Given the description of an element on the screen output the (x, y) to click on. 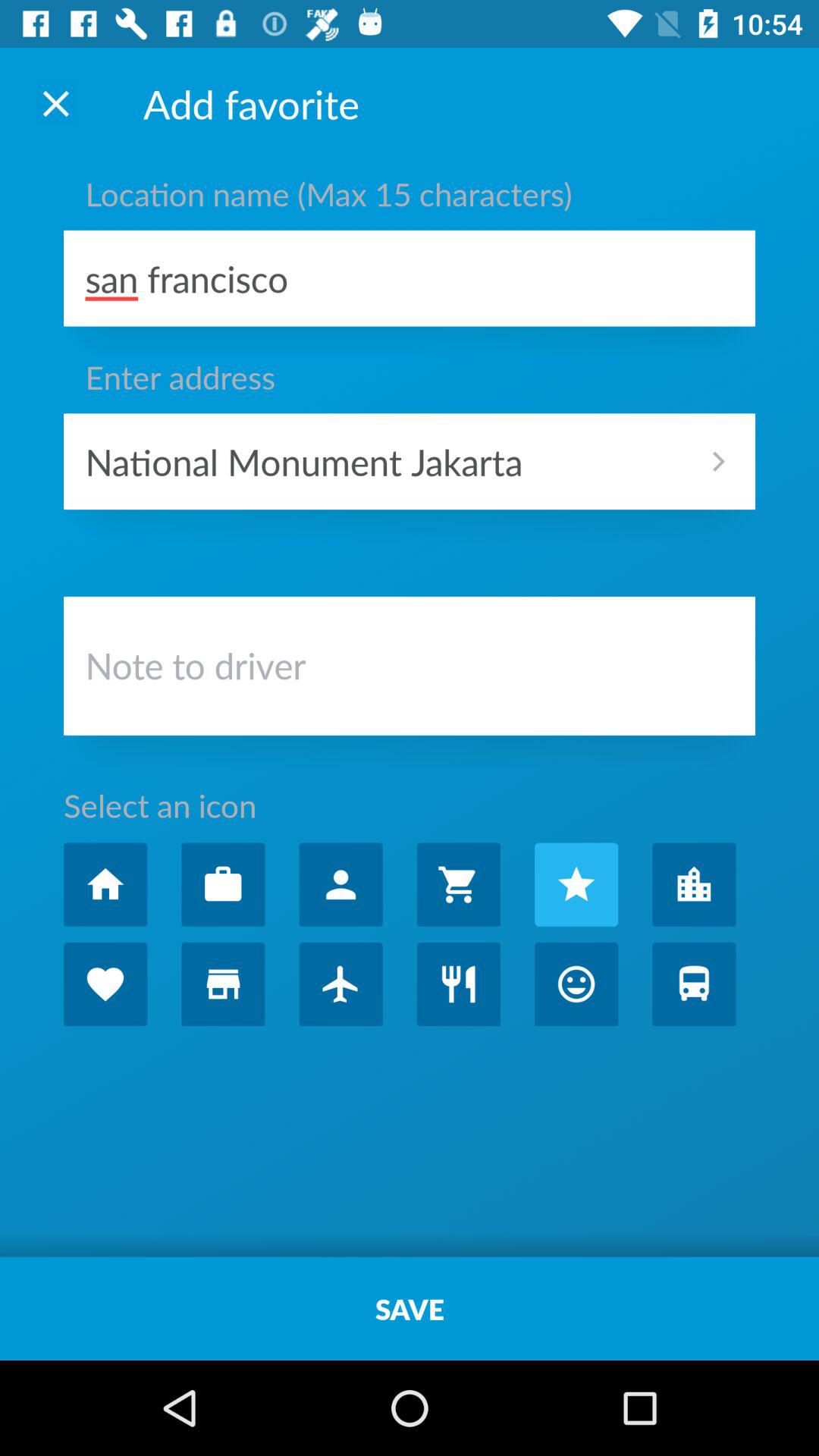
choose airport (340, 984)
